Given the description of an element on the screen output the (x, y) to click on. 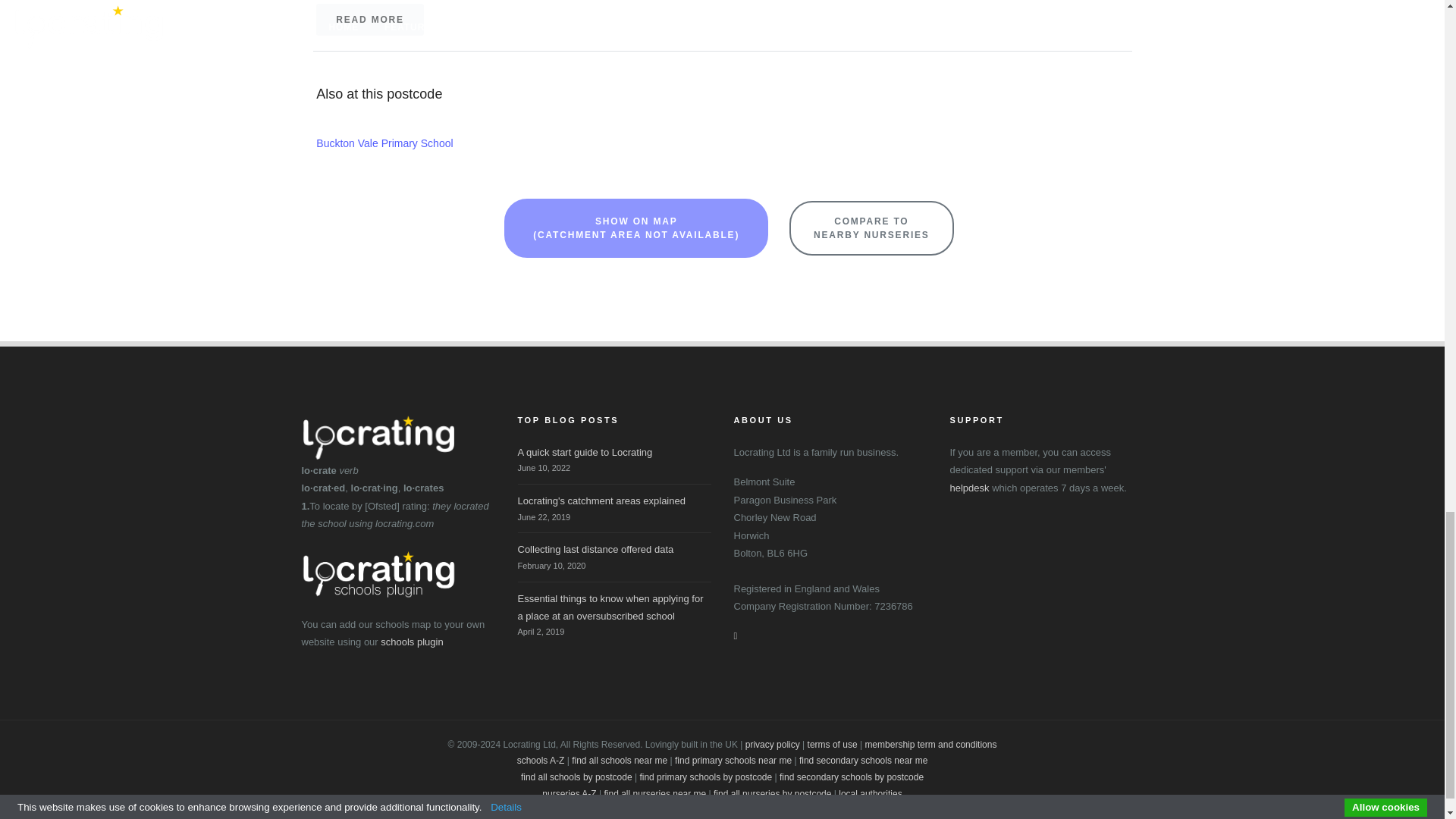
schools A-Z (540, 760)
READ MORE (369, 20)
membership term and conditions (929, 744)
schools plugin (411, 641)
Collecting last distance offered data (594, 549)
Buckton Vale Primary School (383, 142)
find primary schools near me (733, 760)
terms of use (832, 744)
A quick start guide to Locrating (584, 451)
helpdesk (968, 487)
find all schools near me (619, 760)
privacy policy (772, 744)
Locrating's catchment areas explained (600, 500)
find secondary schools near me (863, 760)
